Given the description of an element on the screen output the (x, y) to click on. 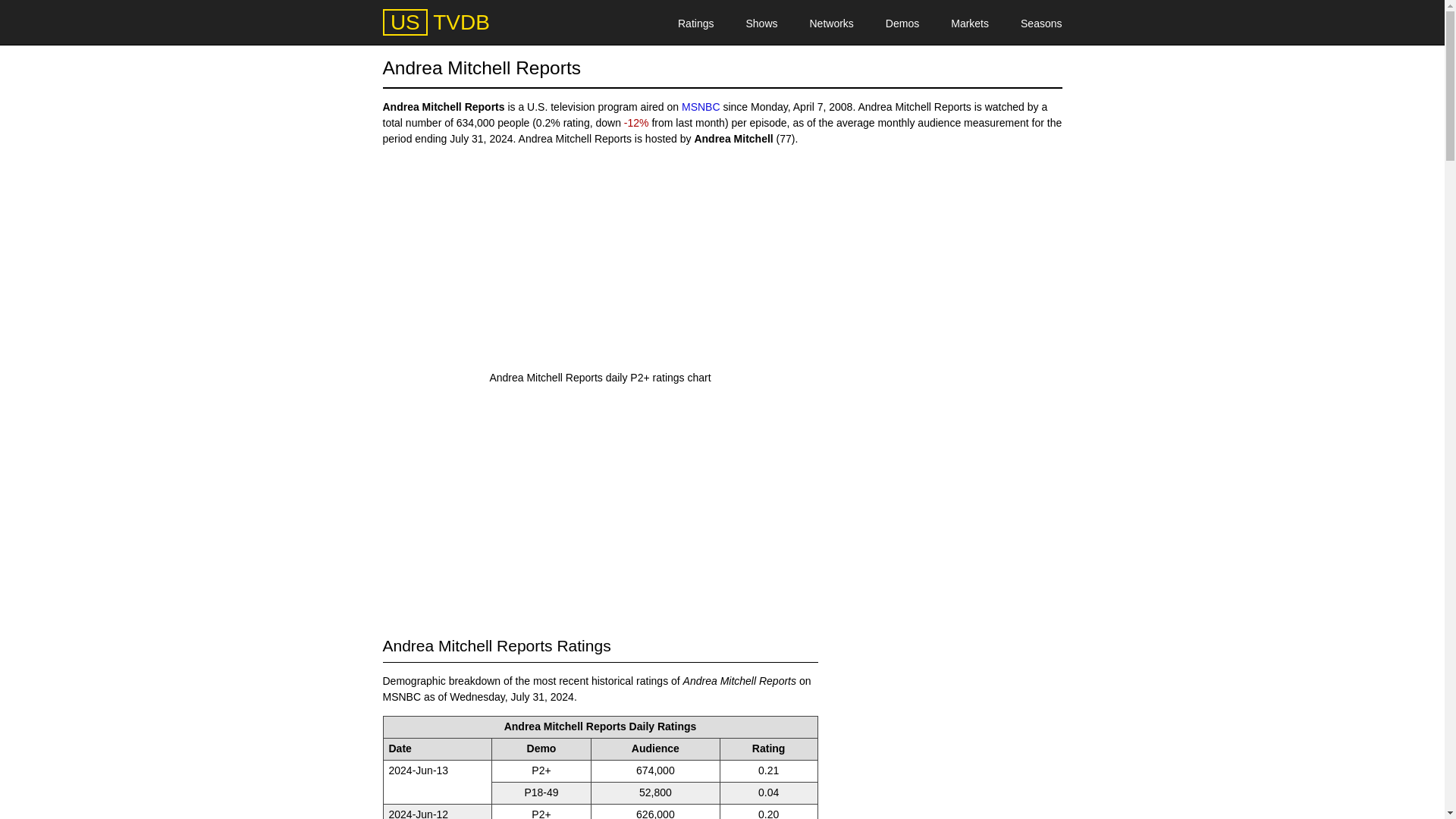
Demos (901, 23)
Seasons (1040, 23)
Markets (969, 23)
Ratings (695, 23)
USTVDB (435, 22)
Demos (901, 23)
Networks (831, 23)
Ratings (695, 23)
MSNBC (700, 106)
Markets (969, 23)
